Given the description of an element on the screen output the (x, y) to click on. 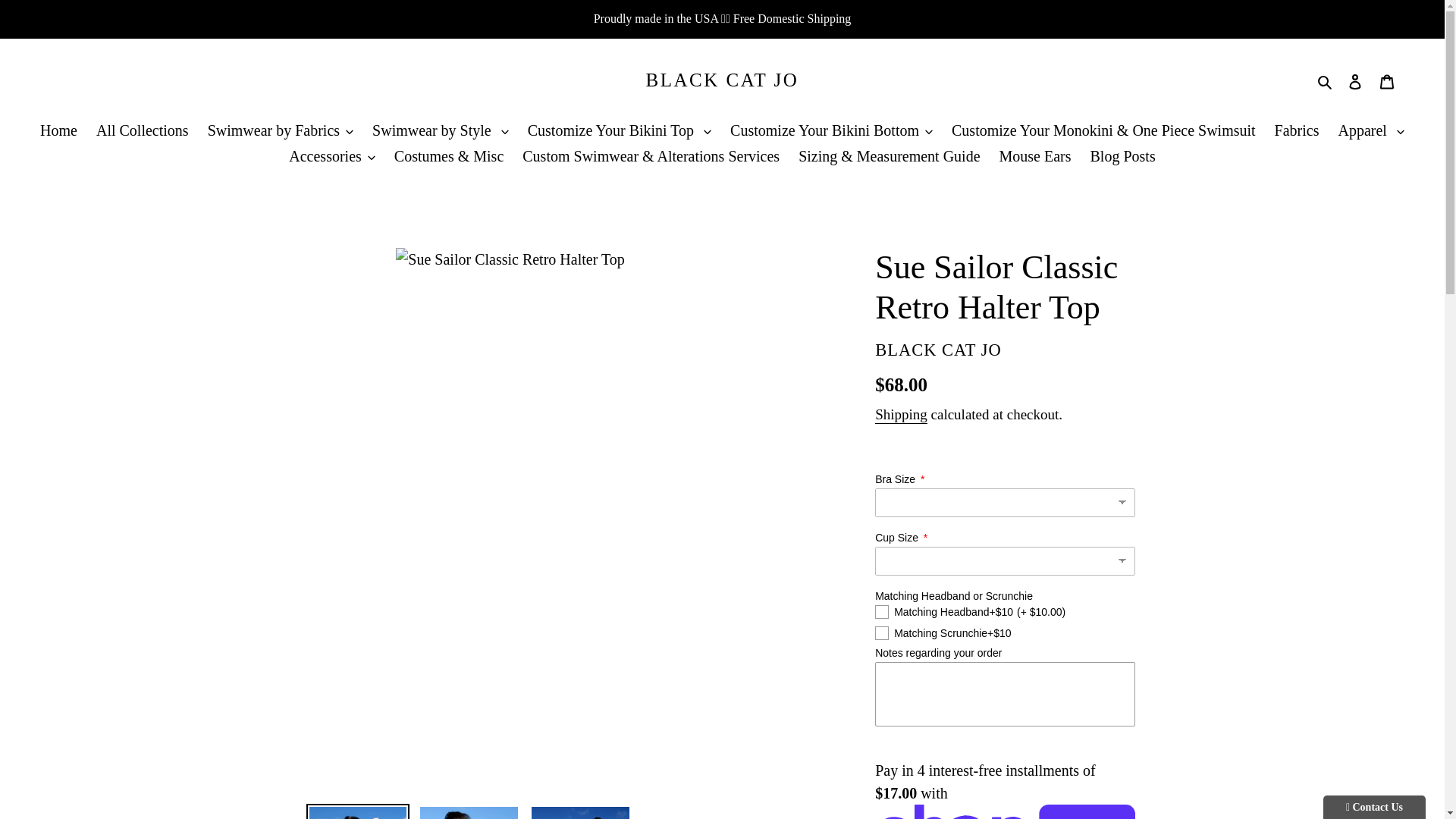
Cart (1387, 80)
BLACK CAT JO (722, 79)
Log in (1355, 80)
Search (1326, 79)
